Given the description of an element on the screen output the (x, y) to click on. 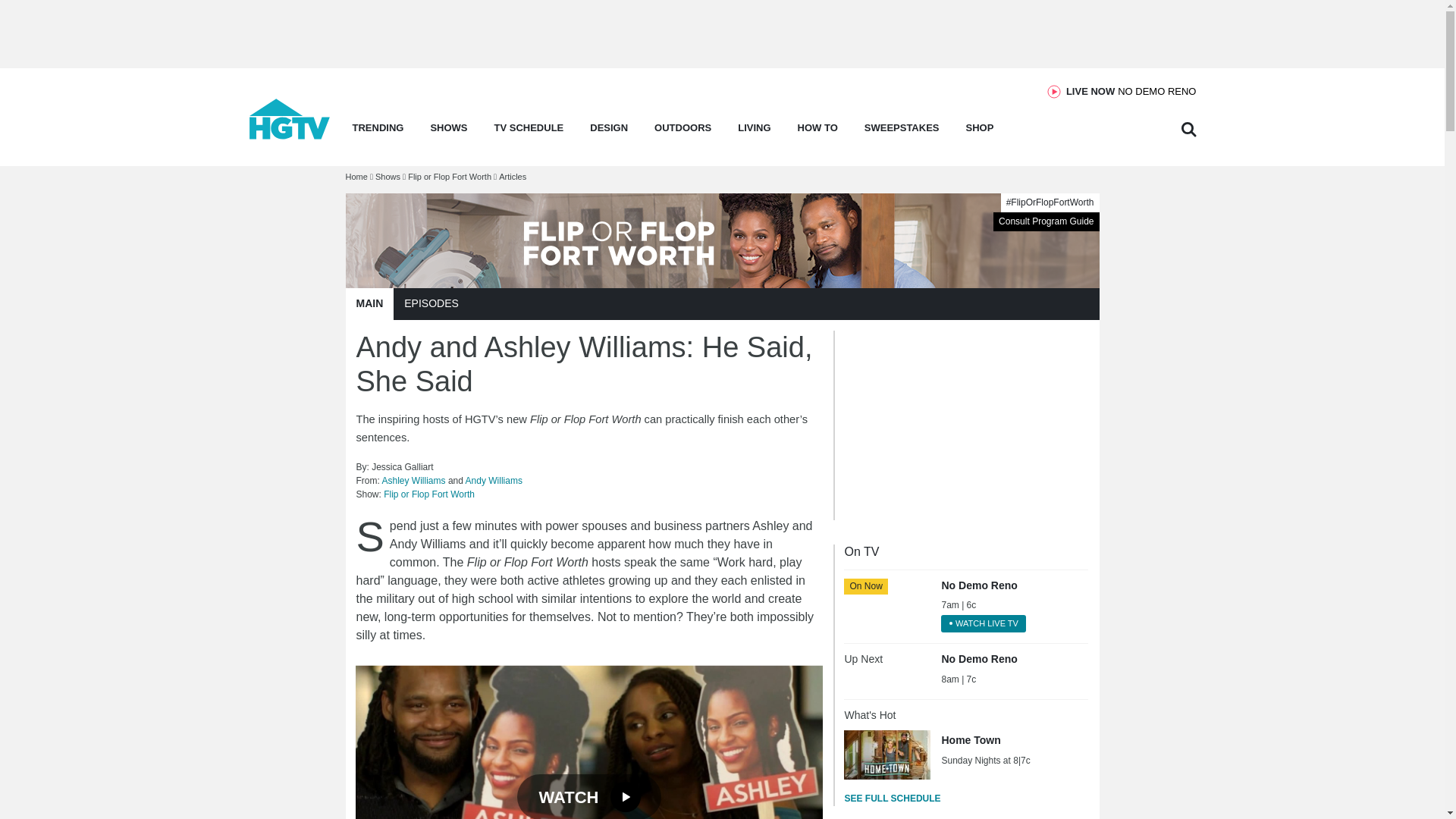
TV SCHEDULE (529, 132)
3rd party ad content (721, 33)
3rd party ad content (957, 425)
home (289, 135)
Home Town (1130, 91)
